Given the description of an element on the screen output the (x, y) to click on. 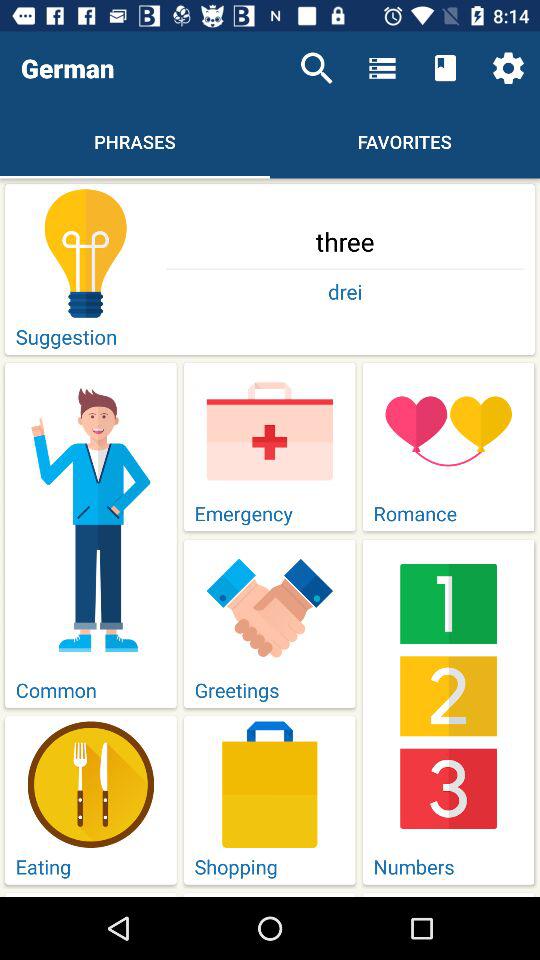
press item above the favorites icon (444, 67)
